Given the description of an element on the screen output the (x, y) to click on. 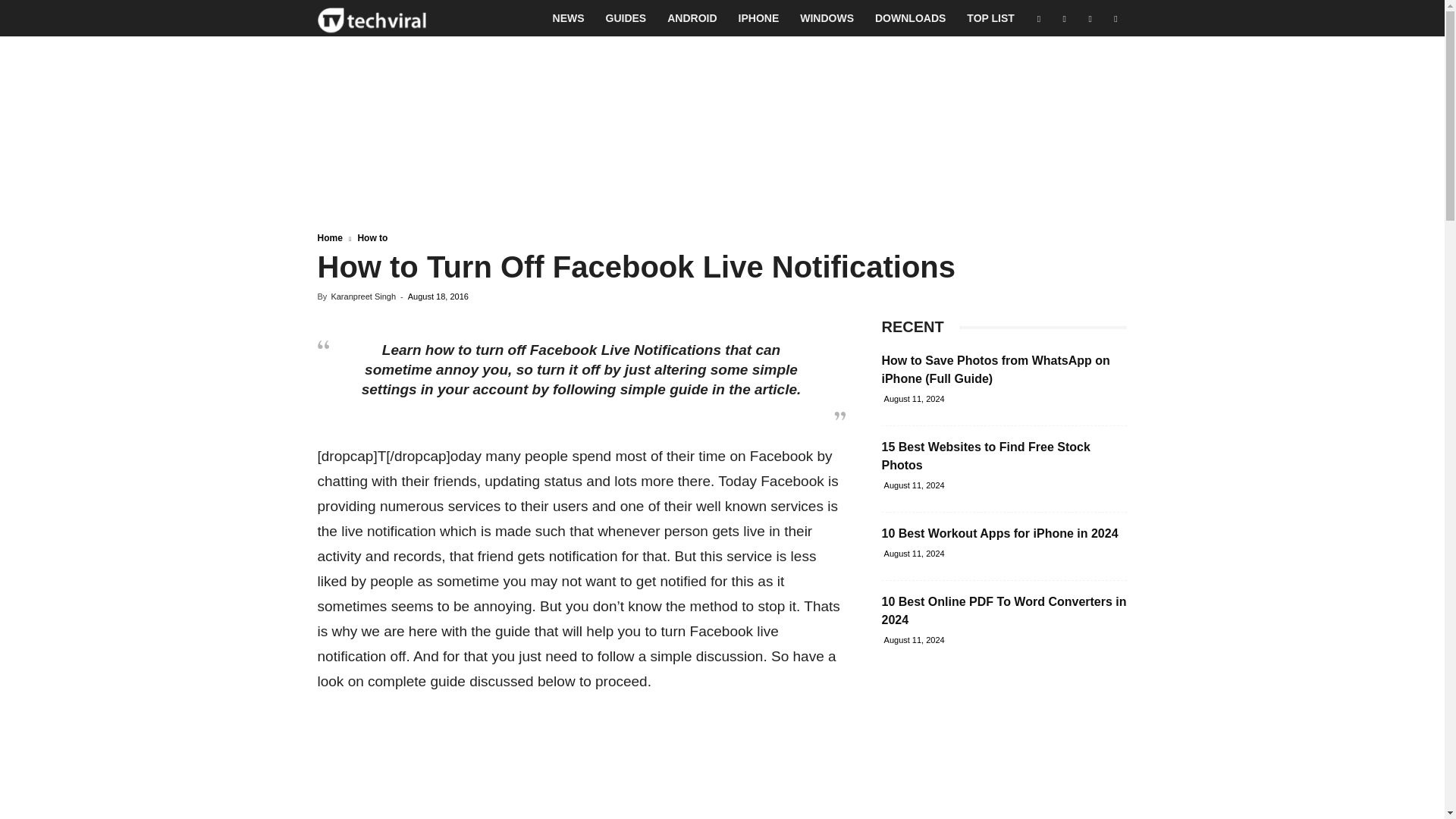
Karanpreet Singh (363, 296)
IPHONE (759, 18)
Tech Viral (371, 18)
Home (329, 237)
ANDROID (691, 18)
DOWNLOADS (910, 18)
NEWS (568, 18)
GUIDES (626, 18)
TechViral (371, 18)
WINDOWS (826, 18)
